Given the description of an element on the screen output the (x, y) to click on. 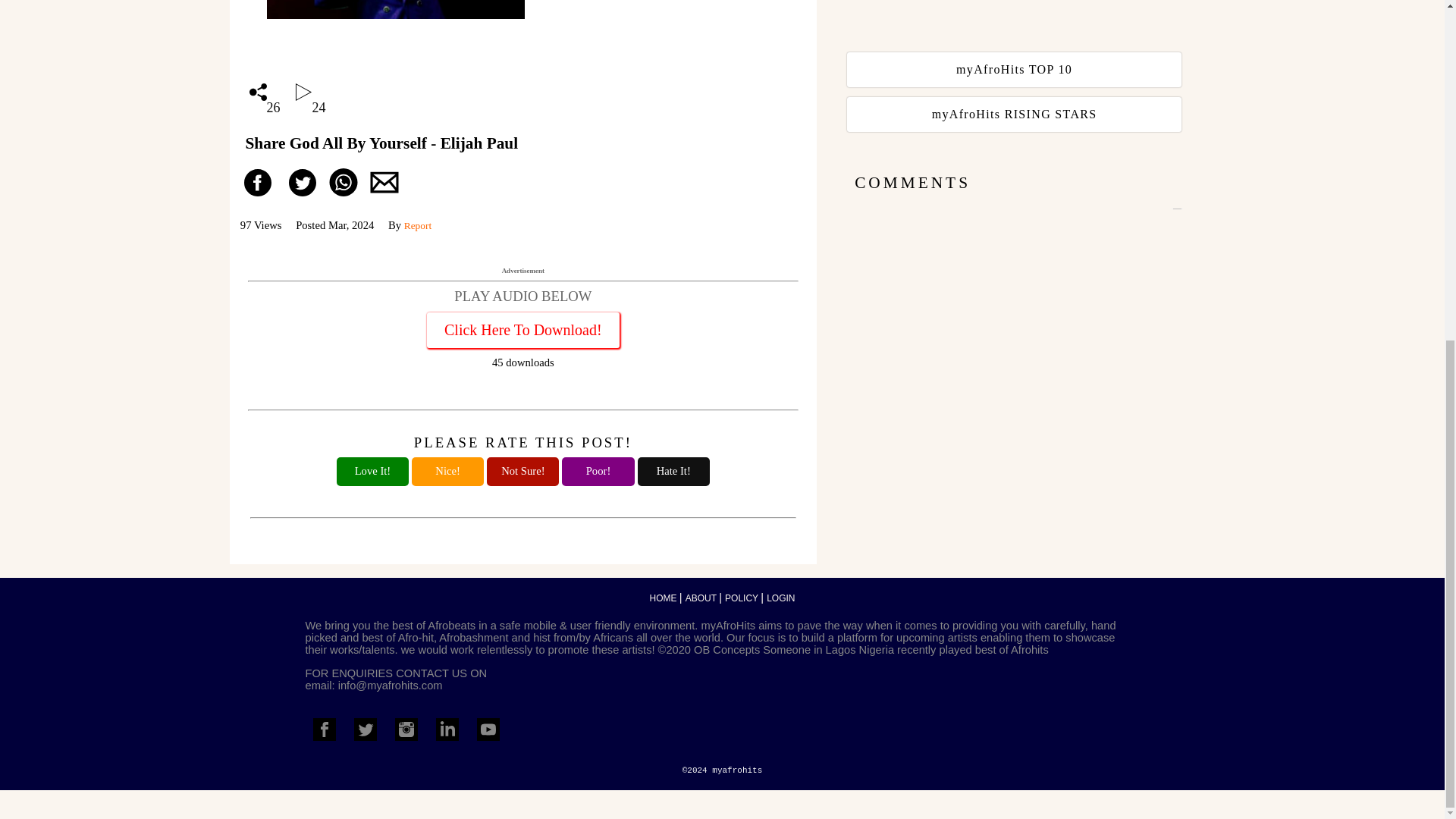
HOME (523, 340)
myAfroHits TOP 10 (664, 597)
myAfroHits RISING STARS (1016, 69)
ABOUT (1016, 114)
LOGIN (702, 597)
Report (780, 597)
POLICY (417, 225)
